Given the description of an element on the screen output the (x, y) to click on. 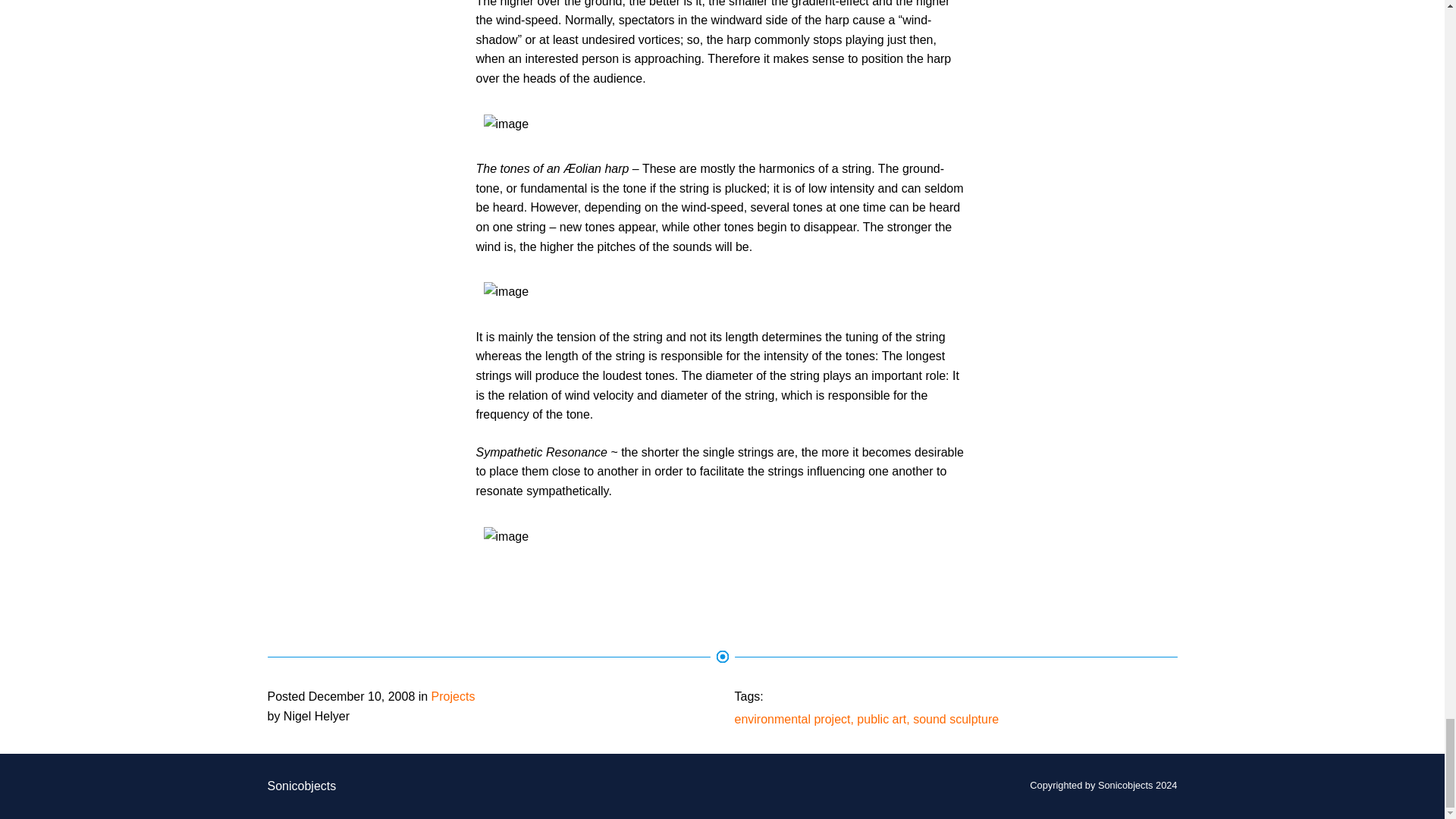
public art (881, 718)
environmental project (791, 718)
Projects (453, 696)
Sonicobjects (301, 785)
sound sculpture (955, 718)
